Given the description of an element on the screen output the (x, y) to click on. 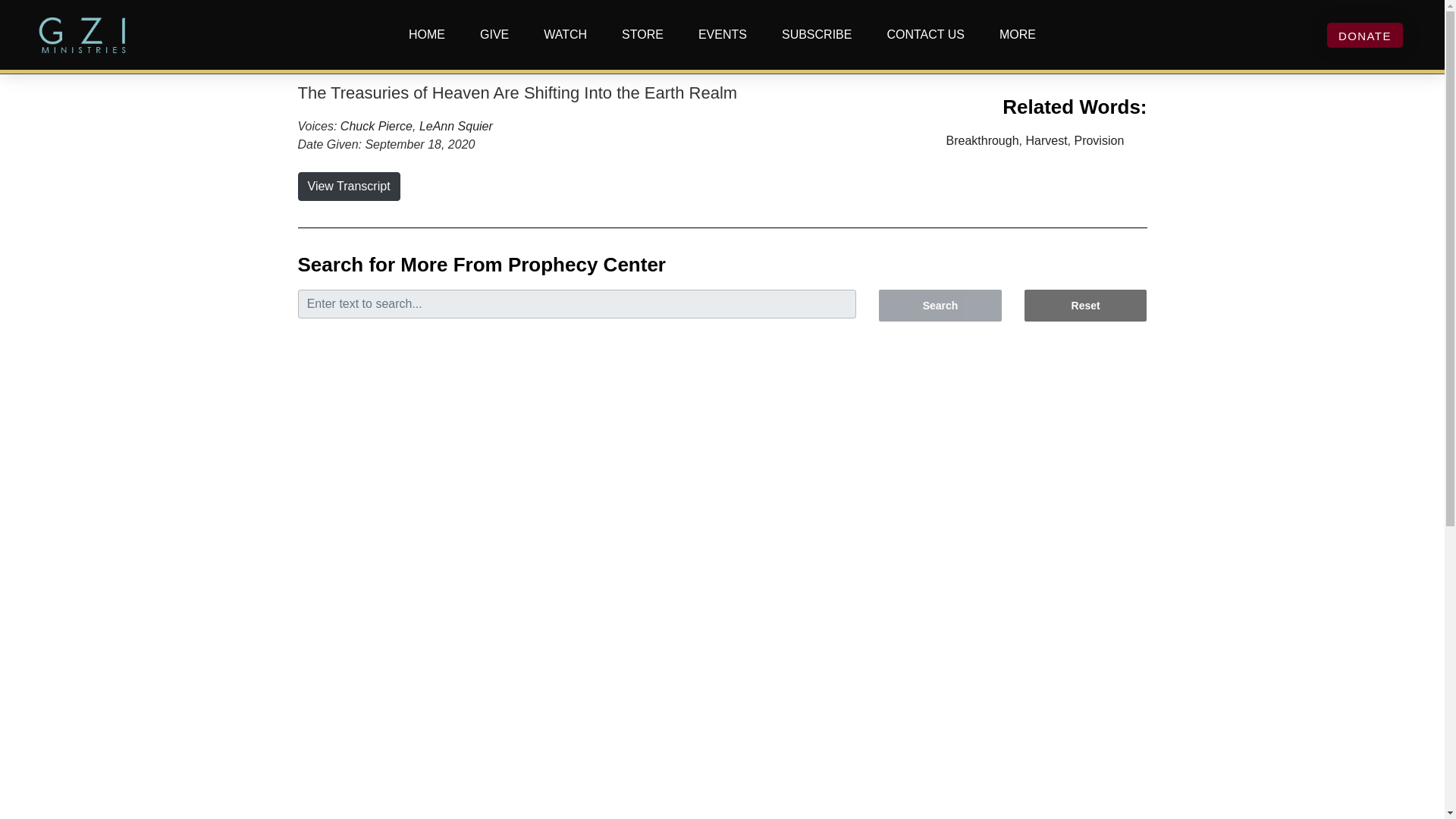
STORE (642, 34)
CONTACT US (924, 34)
SUBSCRIBE (816, 34)
GIVE (494, 34)
Reset (1086, 305)
Search (940, 305)
EVENTS (721, 34)
MORE (1017, 34)
HOME (426, 34)
WATCH (565, 34)
